Given the description of an element on the screen output the (x, y) to click on. 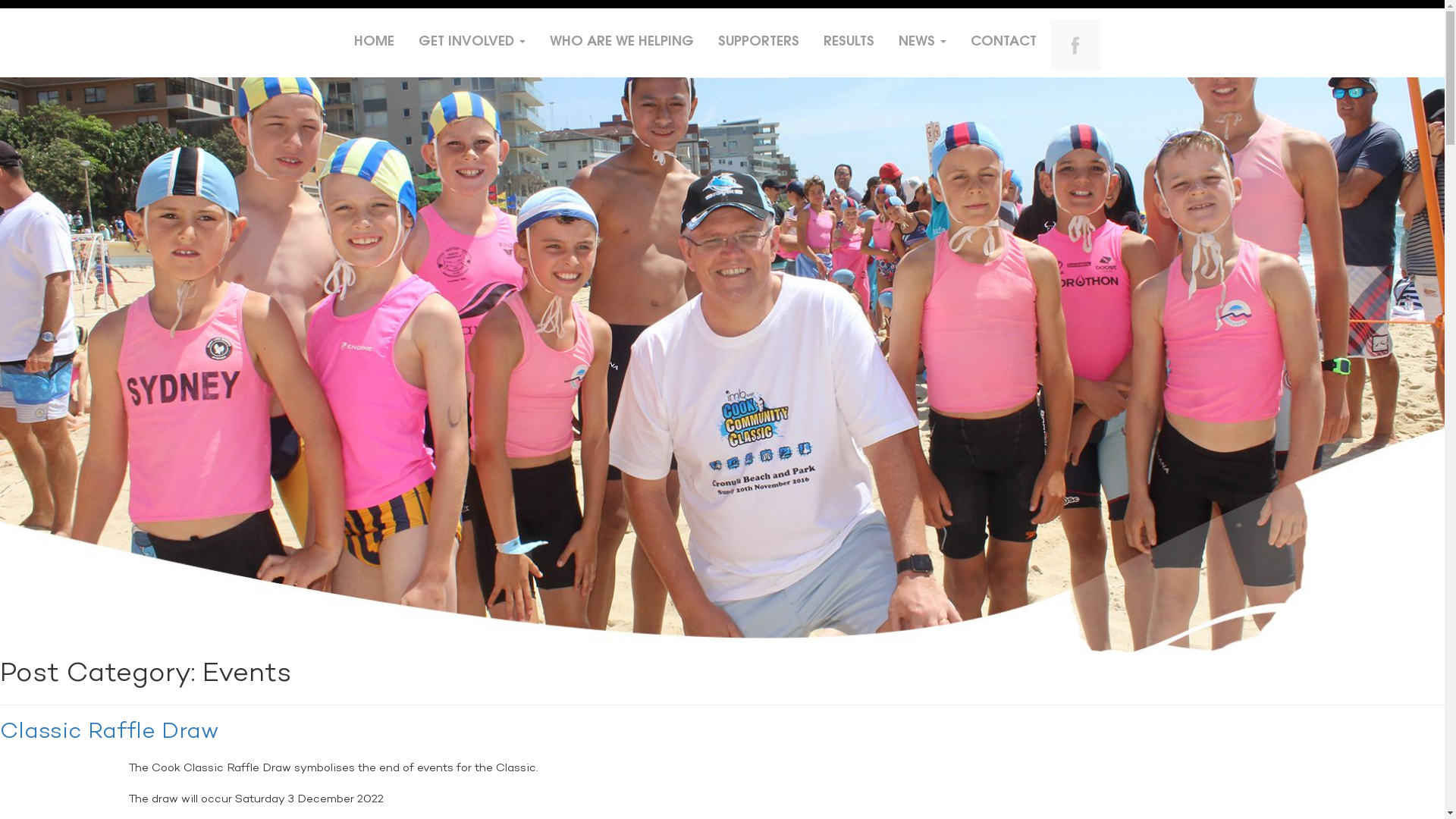
SUPPORTERS Element type: text (758, 42)
FACEBOOK Element type: text (1075, 44)
Classic Raffle Draw Element type: text (109, 732)
CONTACT Element type: text (1003, 42)
HOME Element type: text (373, 42)
WHO ARE WE HELPING Element type: text (621, 42)
RESULTS Element type: text (848, 42)
GET INVOLVED Element type: text (471, 42)
NEWS Element type: text (922, 42)
